Given the description of an element on the screen output the (x, y) to click on. 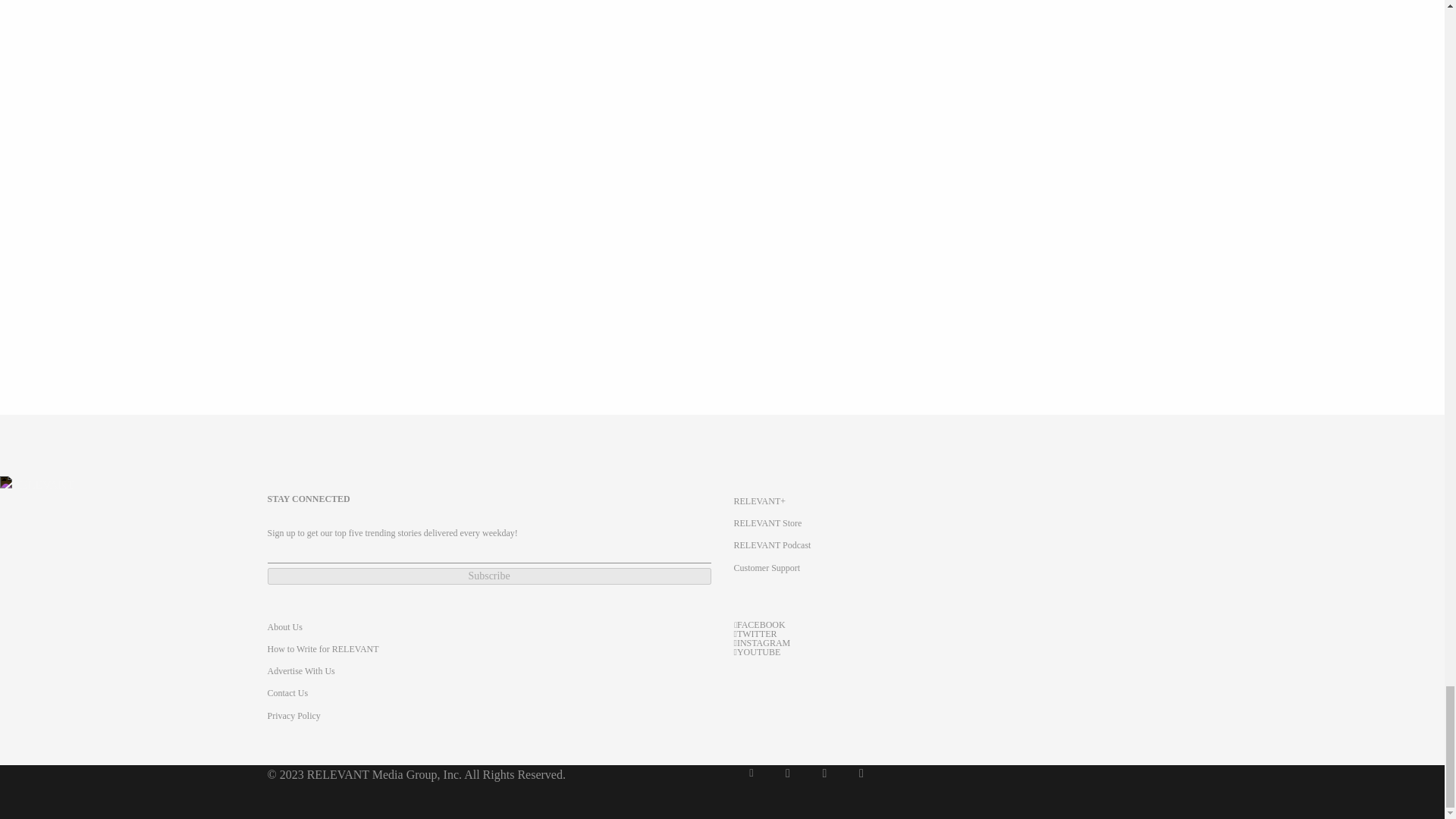
Subscribe (488, 576)
